Given the description of an element on the screen output the (x, y) to click on. 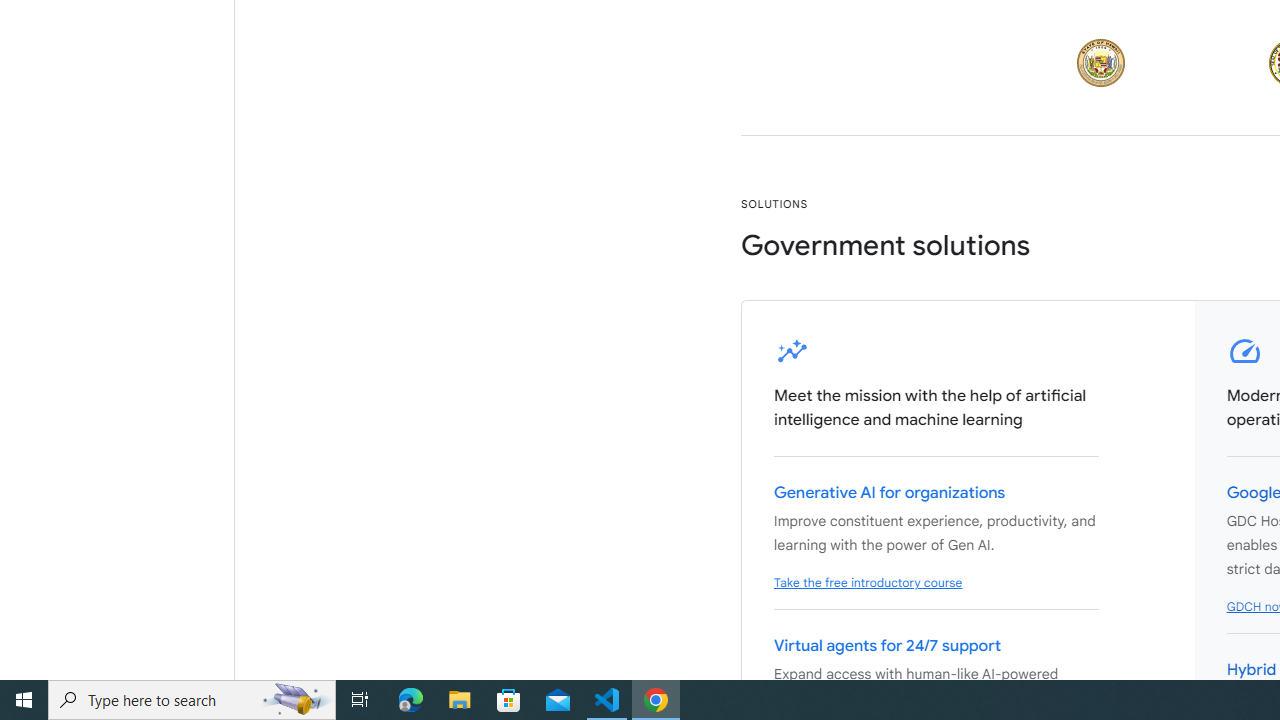
State of Hawaii (1101, 62)
Generative AI for organizations (890, 493)
Take the free introductory course (868, 583)
Virtual agents for 24/7 support (887, 645)
